Given the description of an element on the screen output the (x, y) to click on. 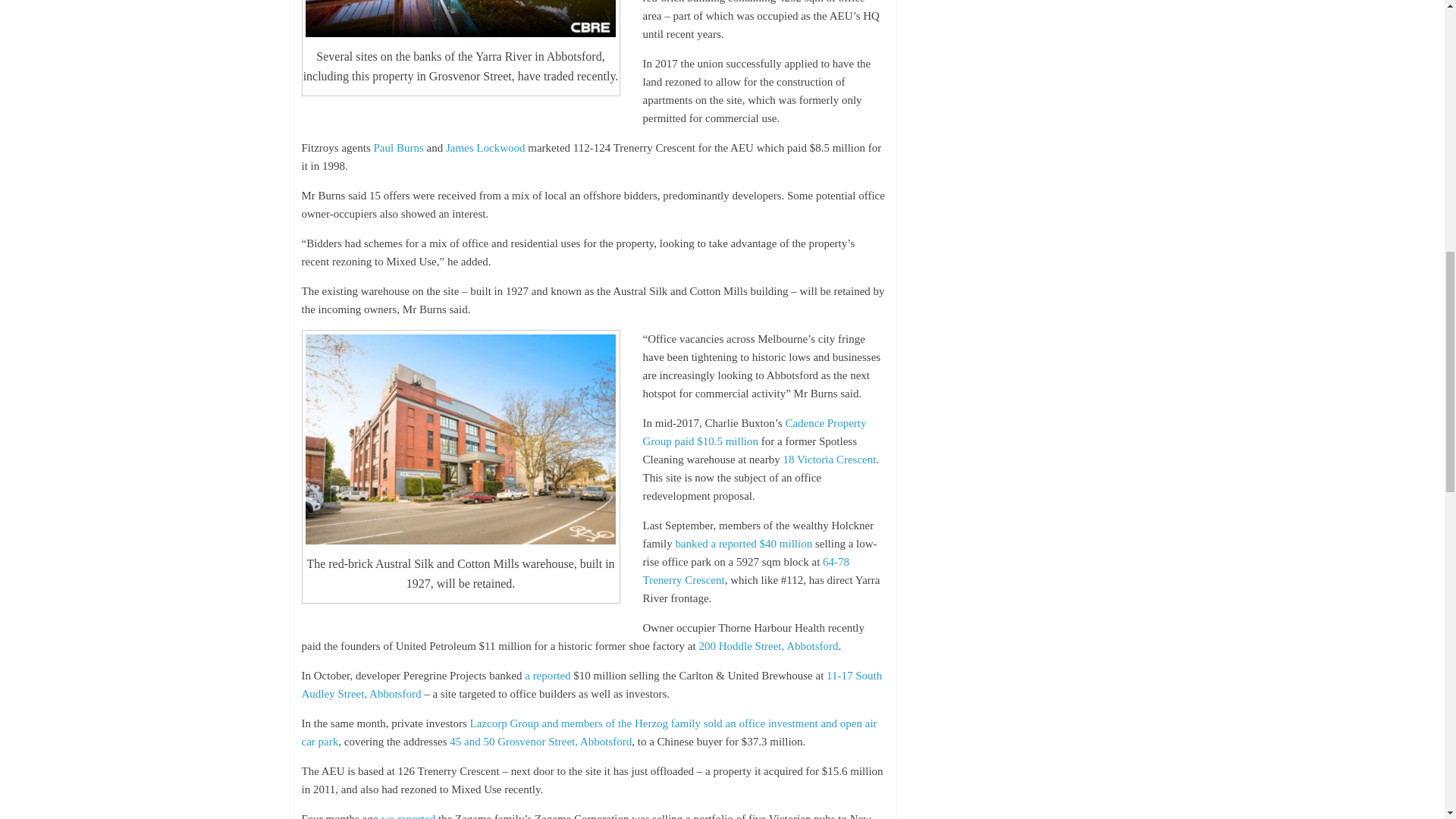
45 and 50 Grosvenor Street, Abbotsford (540, 741)
18 Victoria Crescent (829, 459)
a reported (547, 675)
Paul Burns (397, 147)
11-17 South Audley Street, Abbotsford (591, 684)
64-78 Trenerry Crescent (746, 571)
200 Hoddle Street, Abbotsford (768, 645)
James Lockwood (485, 147)
